Given the description of an element on the screen output the (x, y) to click on. 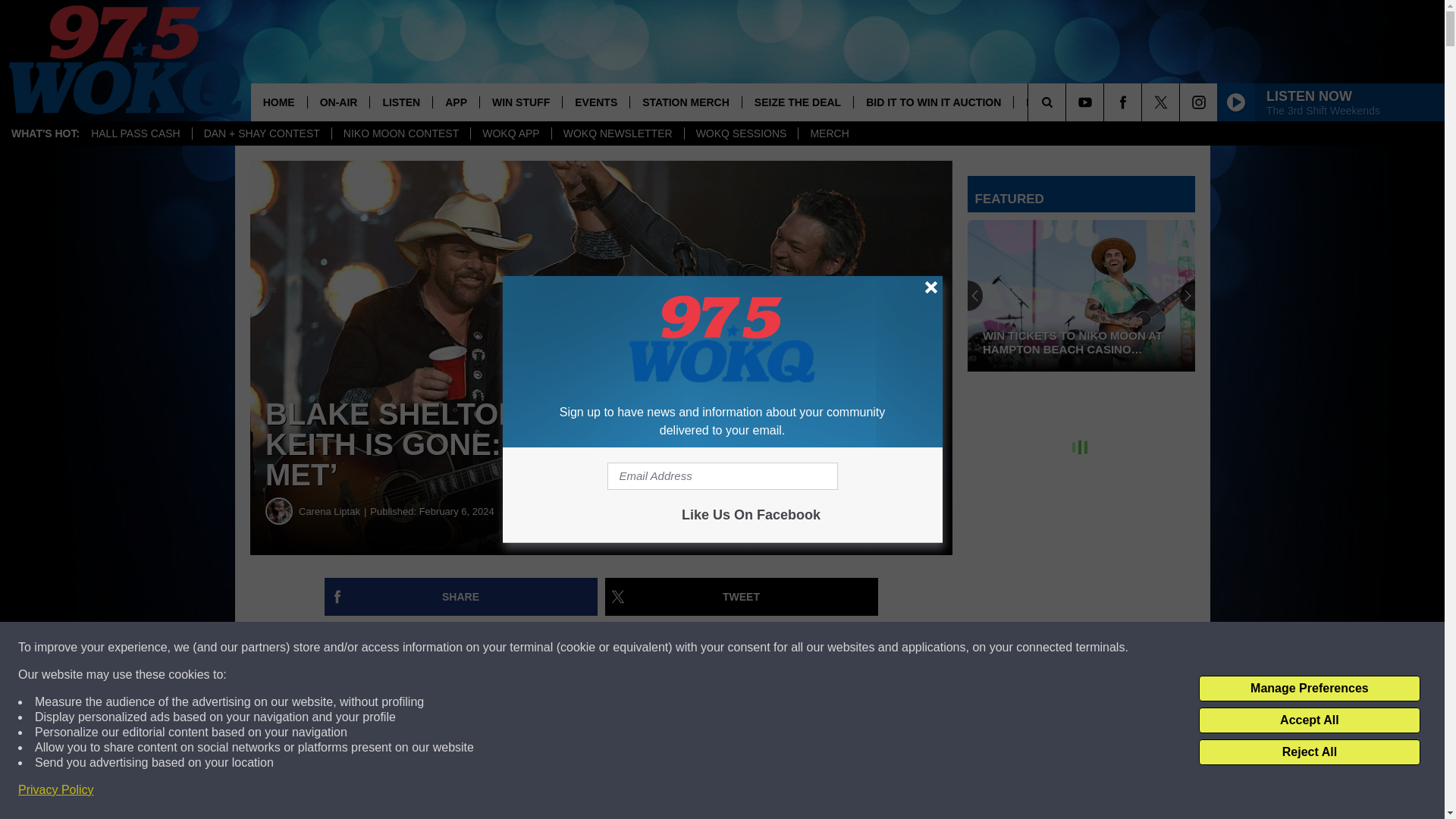
ON-AIR (338, 102)
Manage Preferences (1309, 688)
WOKQ SESSIONS (740, 133)
MERCH (828, 133)
WOKQ APP (510, 133)
APP (455, 102)
Accept All (1309, 720)
TWEET (741, 596)
SEARCH (1068, 102)
HALL PASS CASH (136, 133)
LISTEN (400, 102)
HOME (278, 102)
Email Address (722, 475)
Reject All (1309, 751)
Privacy Policy (55, 789)
